Given the description of an element on the screen output the (x, y) to click on. 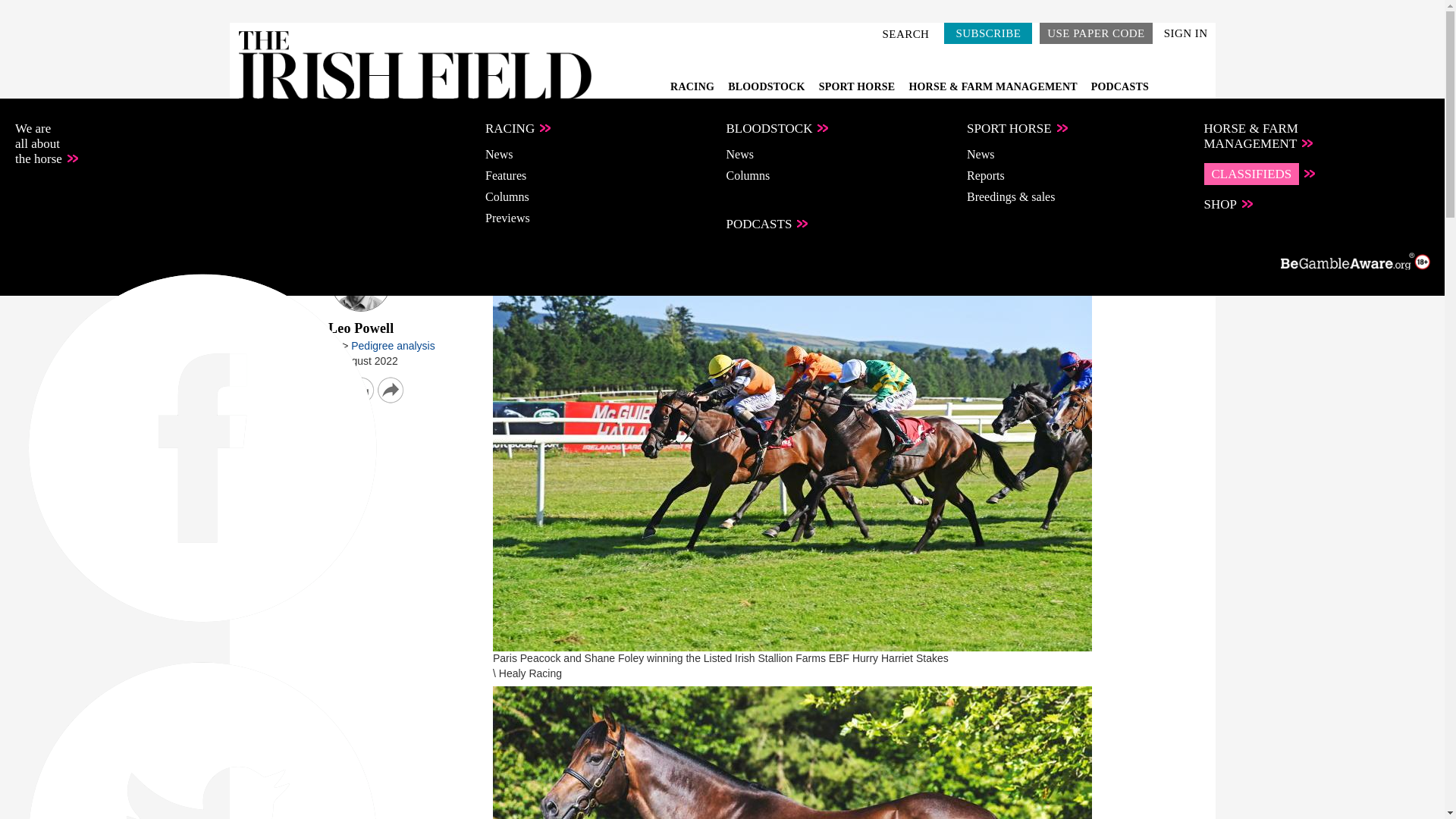
RACING (693, 86)
Share this article (390, 389)
BLOODSTOCK (768, 86)
SIGN IN (1185, 33)
PODCASTS (1119, 86)
USE PAPER CODE (1095, 33)
Save this article (360, 389)
SUBSCRIBE (987, 33)
Email the writer (331, 389)
SEARCH (909, 33)
SPORT HORSE (858, 86)
